Given the description of an element on the screen output the (x, y) to click on. 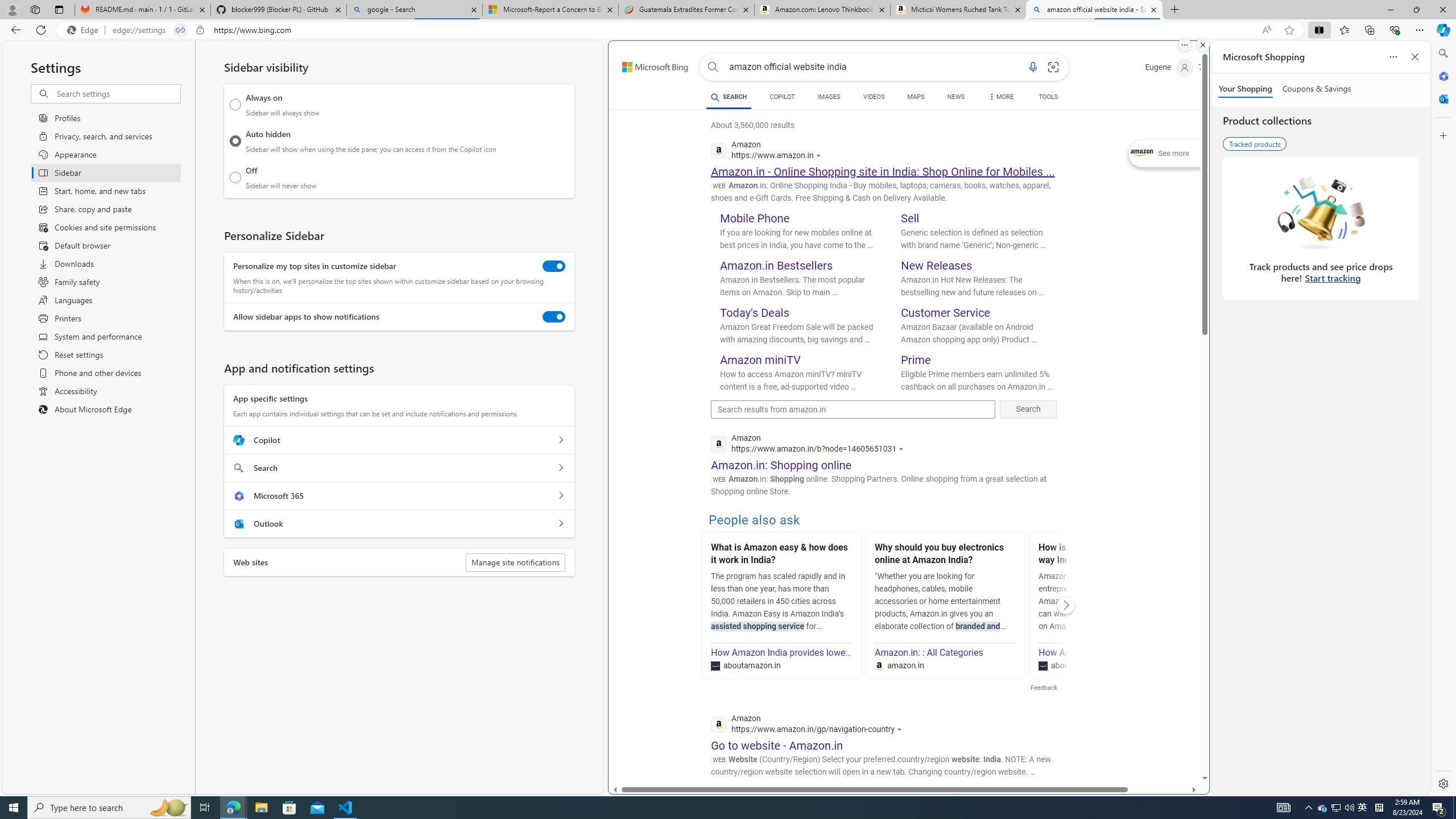
Search using an image (1052, 66)
COPILOT (781, 98)
Tabs in split screen (180, 29)
Search button (713, 66)
